Given the description of an element on the screen output the (x, y) to click on. 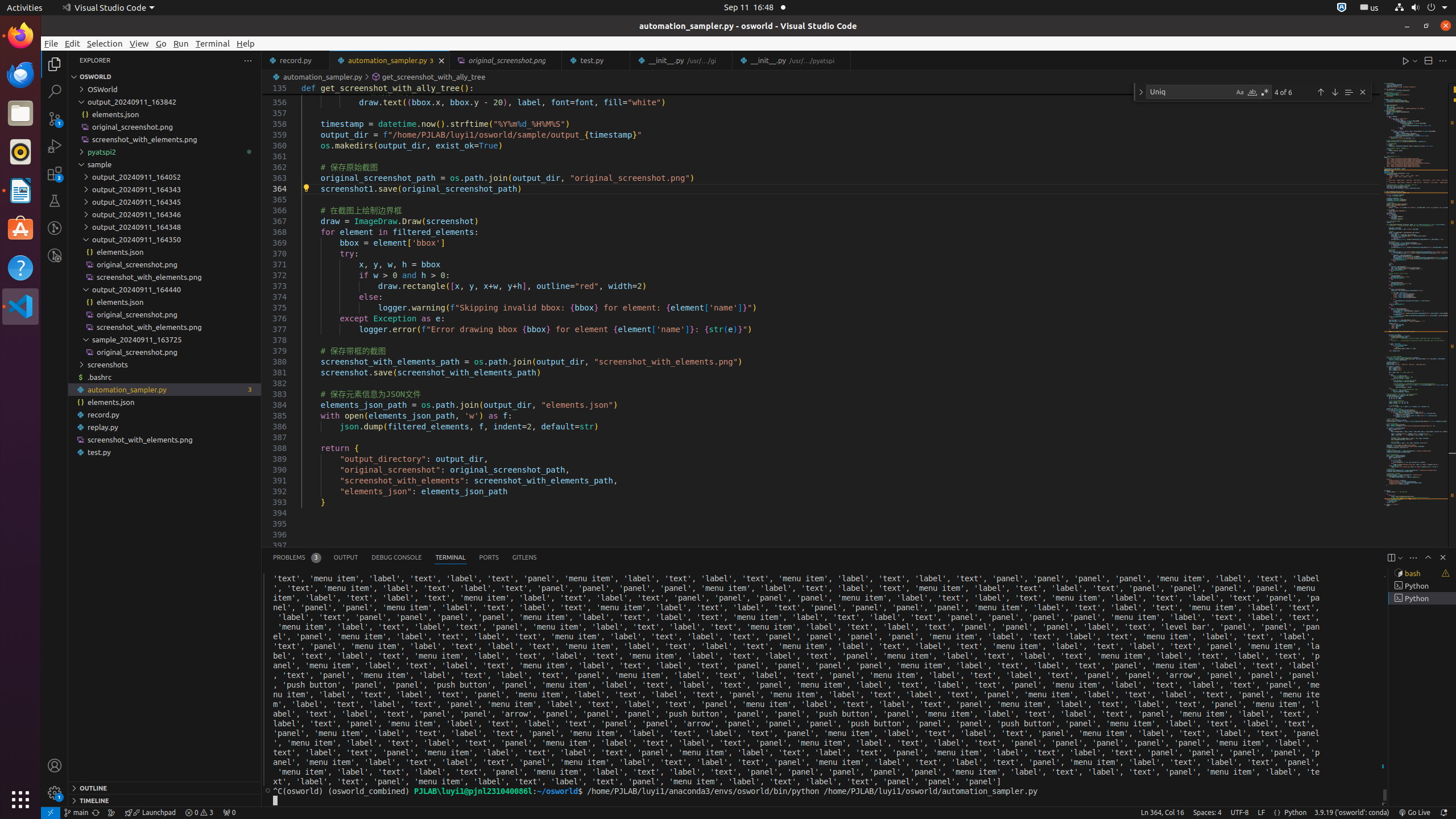
Run Python File Element type: push-button (1405, 60)
Views and More Actions... Element type: push-button (1413, 557)
automation_sampler.py Element type: tree-item (164, 389)
original_screenshot.png, preview Element type: page-tab (505, 60)
output_20240911_164346 Element type: tree-item (164, 214)
